Given the description of an element on the screen output the (x, y) to click on. 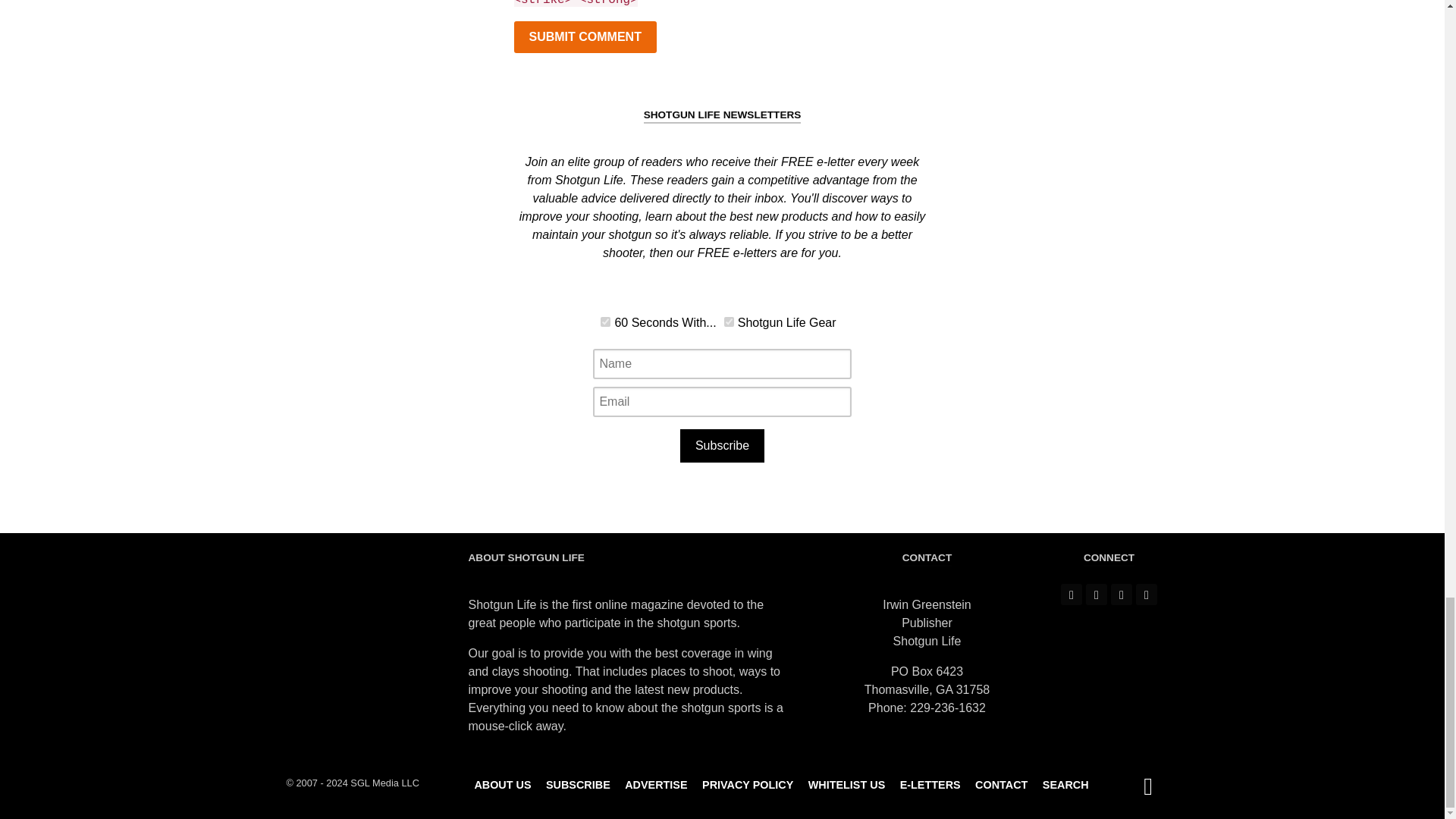
Submit Comment (584, 37)
3 (604, 321)
10 (728, 321)
